Given the description of an element on the screen output the (x, y) to click on. 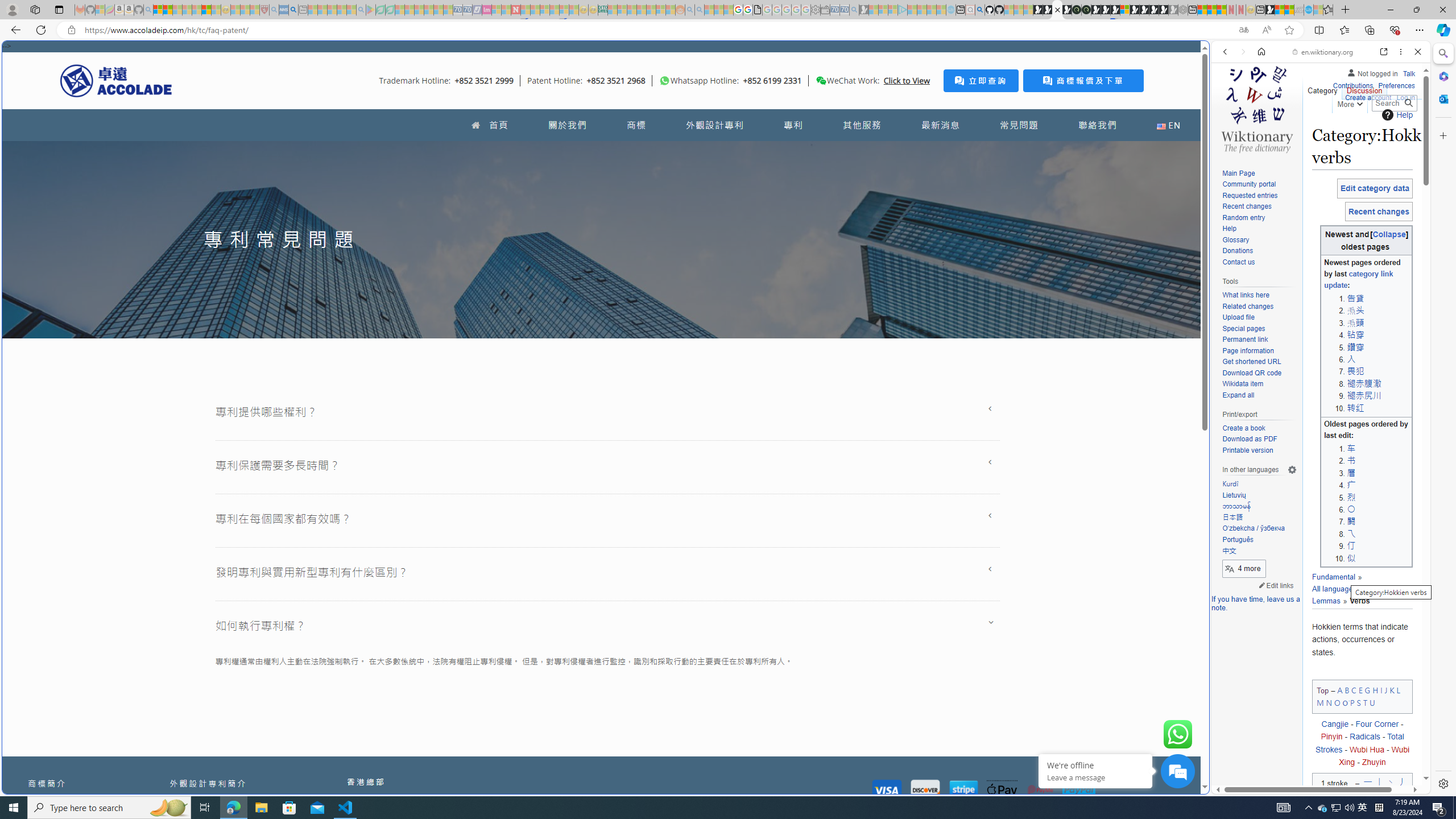
Random entry (1243, 216)
Requested entries (1249, 194)
[Collapse] (1389, 233)
Upload file (1238, 317)
Upload file (1259, 317)
Edit category data (1374, 188)
